Given the description of an element on the screen output the (x, y) to click on. 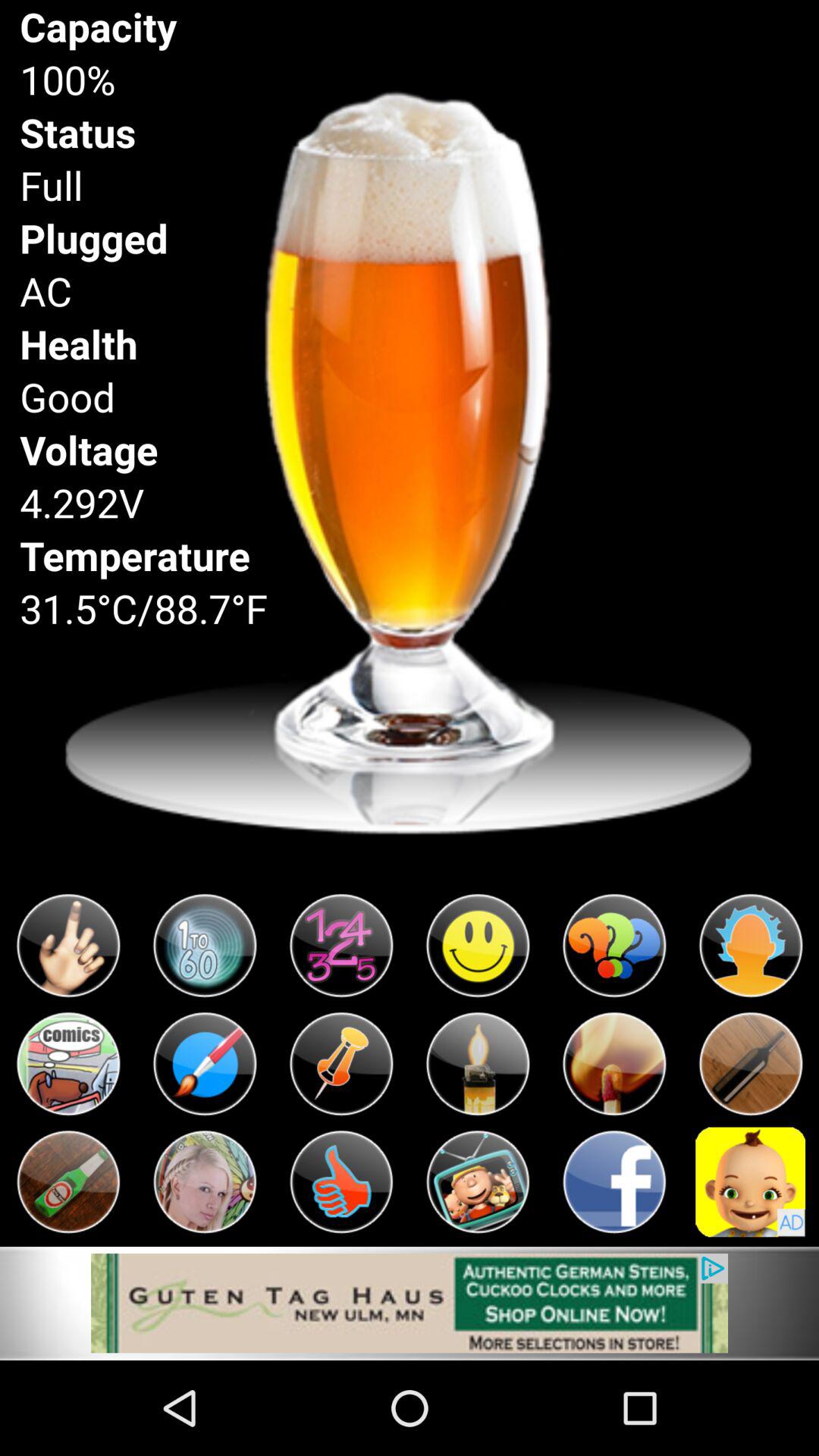
like the image (341, 1182)
